Given the description of an element on the screen output the (x, y) to click on. 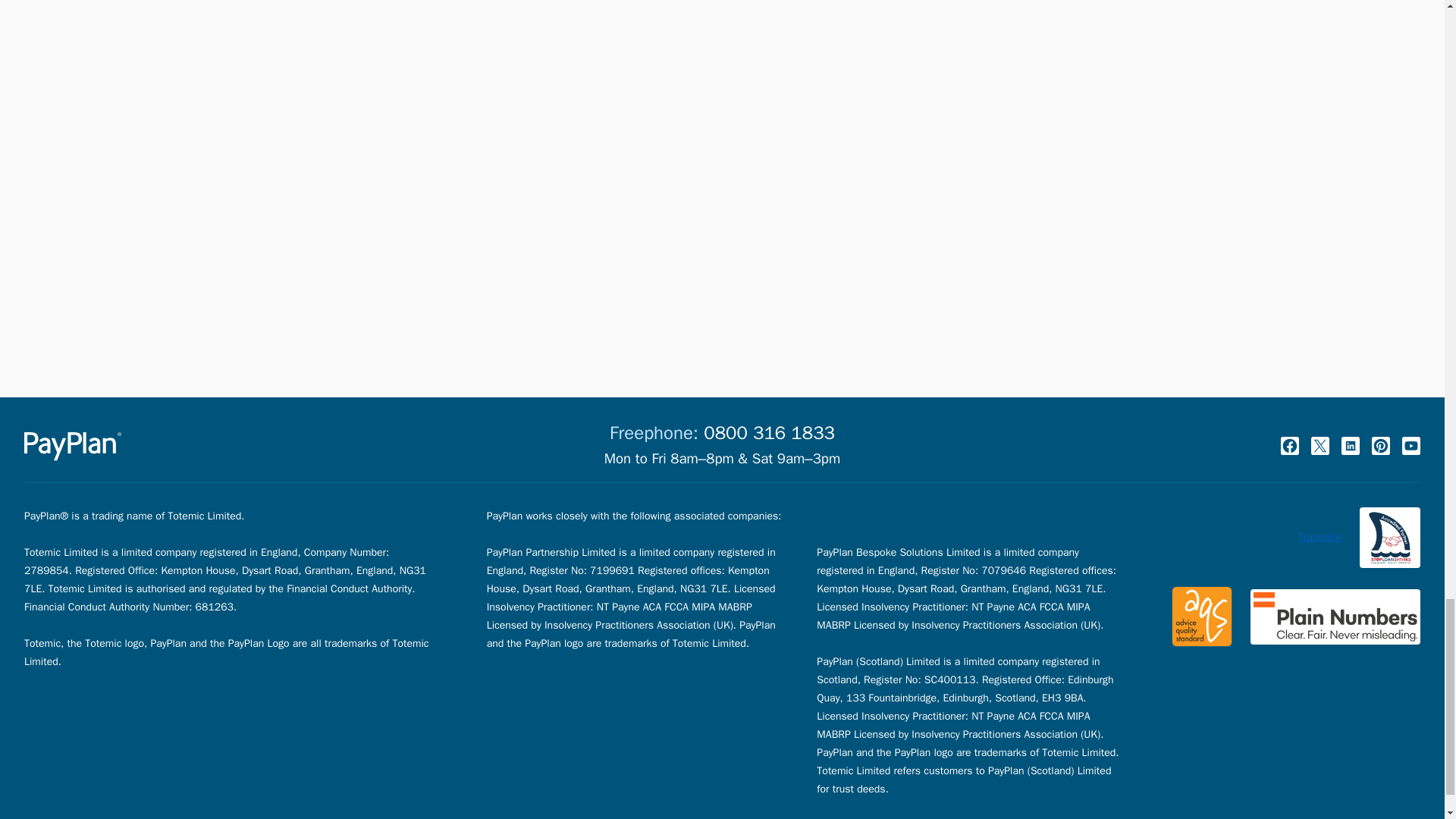
linkedin (1349, 445)
pinterest (1380, 445)
0800 316 1833 (768, 432)
youtube (1411, 445)
Trustpilot (1319, 536)
facebook (1289, 445)
twitter (1320, 445)
